Given the description of an element on the screen output the (x, y) to click on. 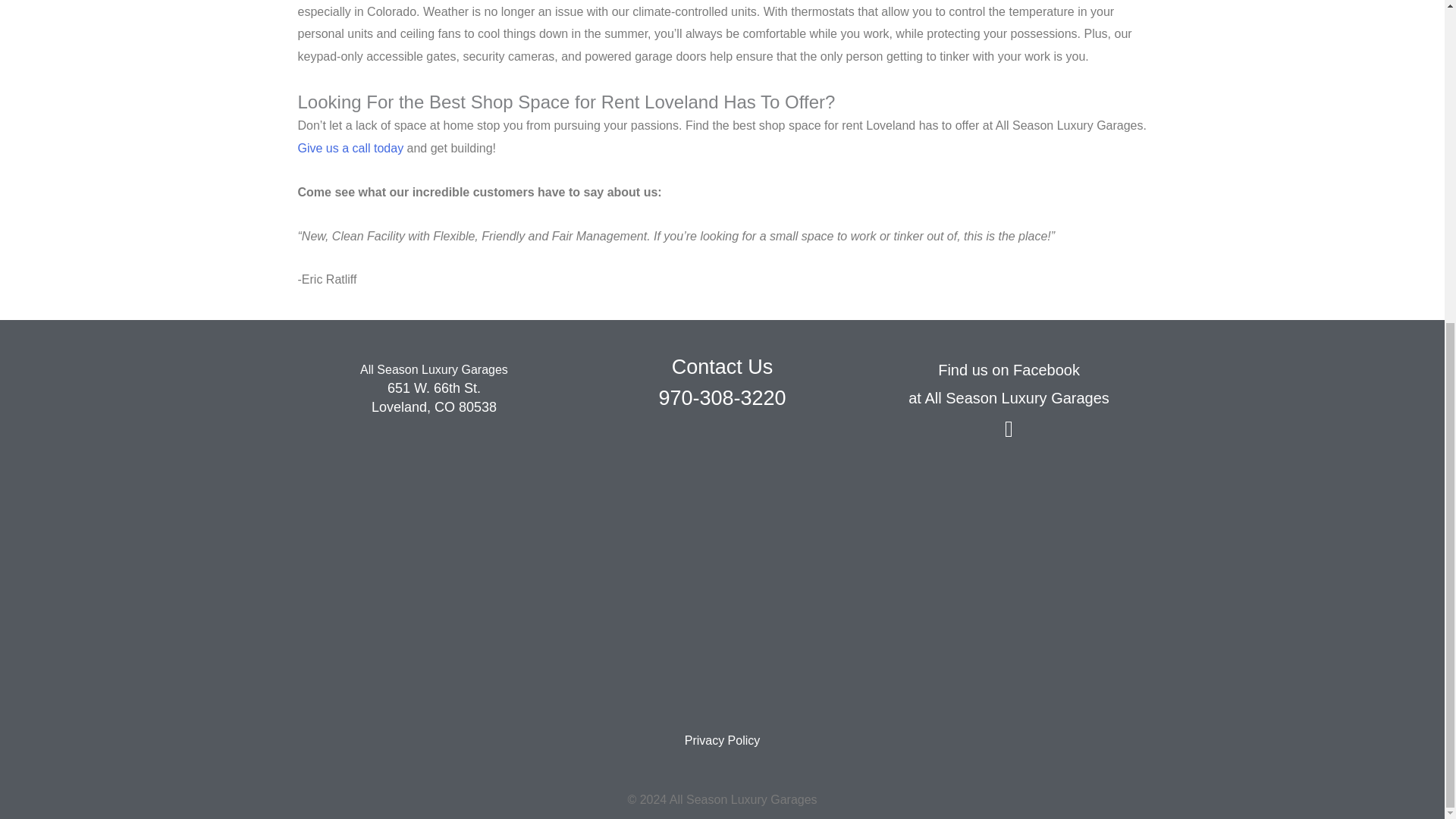
Contact Us (722, 366)
Privacy Policy (722, 739)
970-308-3220 (722, 396)
Give us a call today (350, 147)
